Given the description of an element on the screen output the (x, y) to click on. 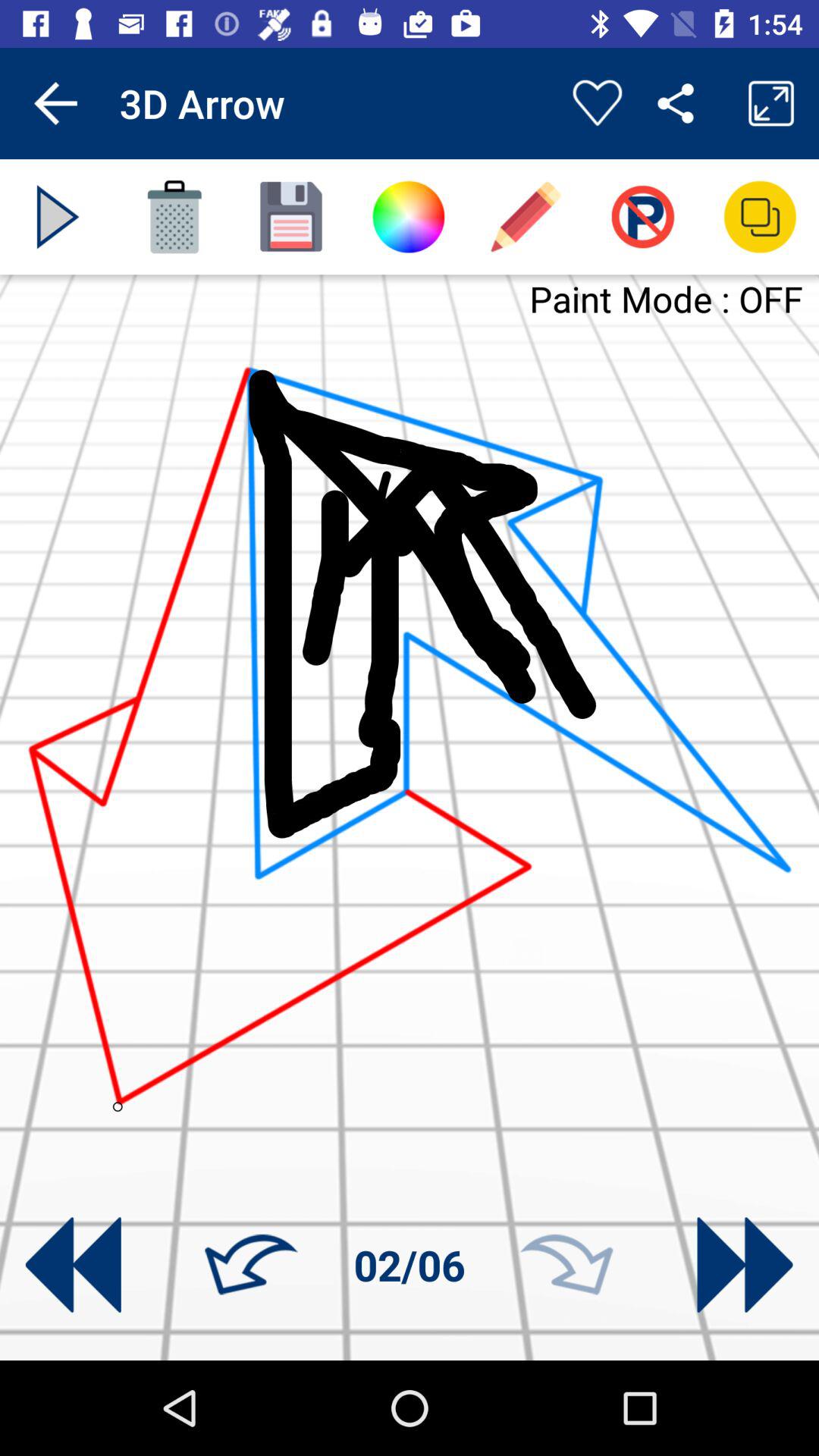
minimize/maximize page (759, 216)
